Given the description of an element on the screen output the (x, y) to click on. 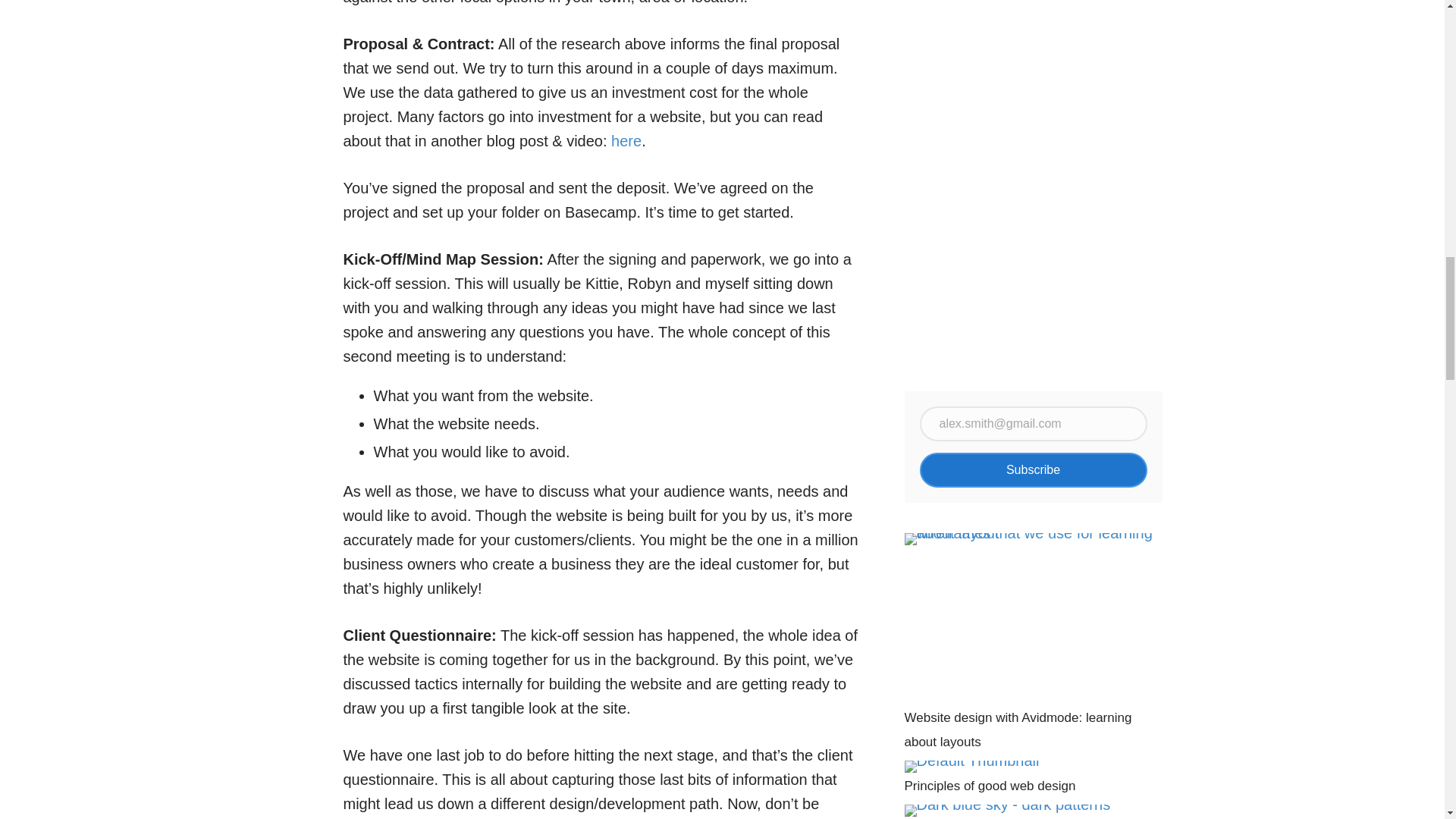
Website design with Avidmode: learning about layouts (1032, 643)
Ethical website design and dark patterns (1032, 811)
here (626, 140)
Principles of good web design (1032, 778)
Ethical website design and dark patterns (1032, 811)
Website design with Avidmode: learning about layouts (1032, 643)
Principles of good web design (1032, 778)
Subscribe (1032, 469)
